Given the description of an element on the screen output the (x, y) to click on. 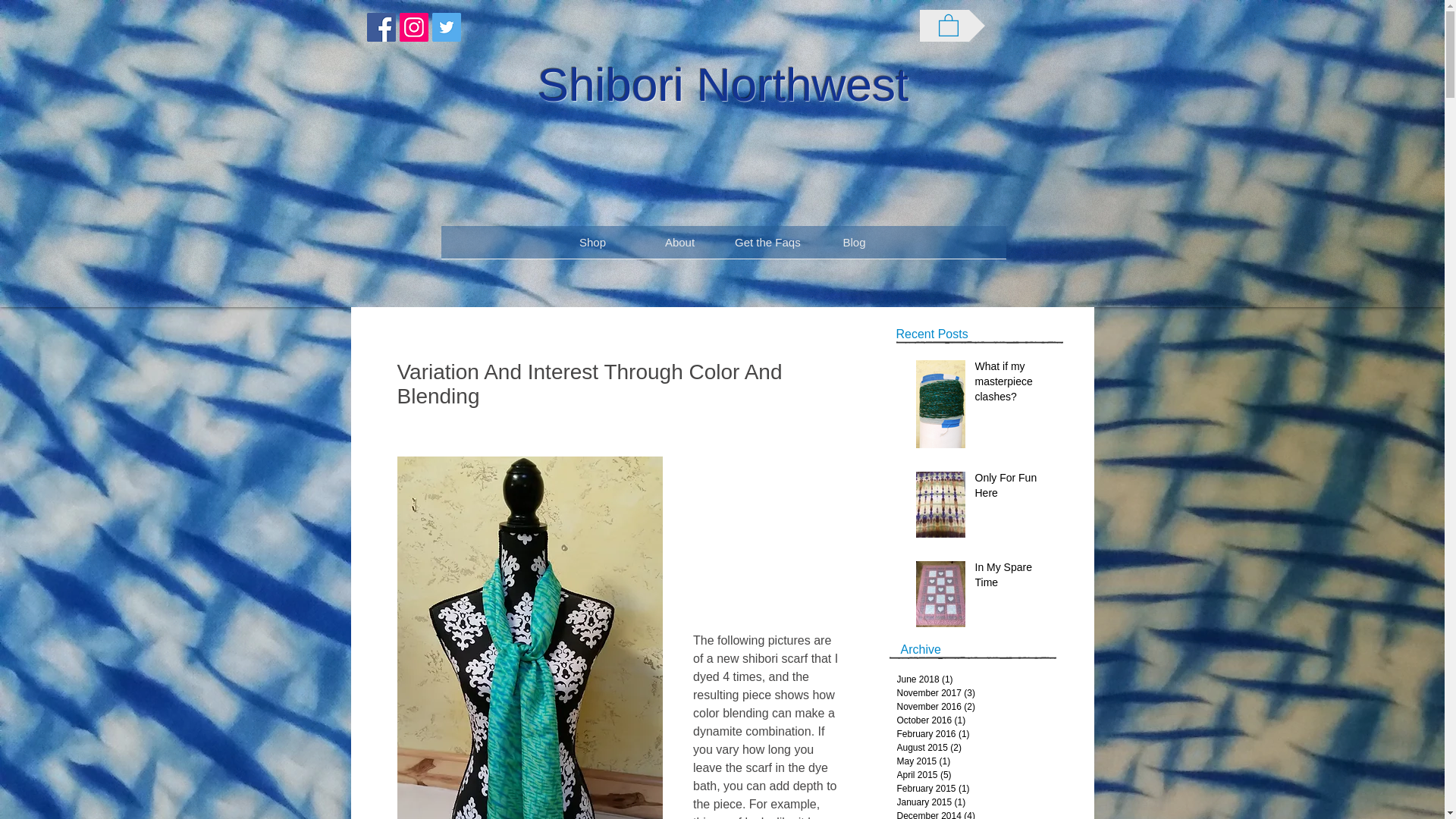
Blog (854, 247)
Get the Faqs (766, 247)
In My Spare Time (1009, 578)
Shop (592, 247)
Only For Fun Here (1009, 488)
About (679, 247)
What if my masterpiece clashes? (1009, 384)
Shibori Northwest (722, 84)
